Given the description of an element on the screen output the (x, y) to click on. 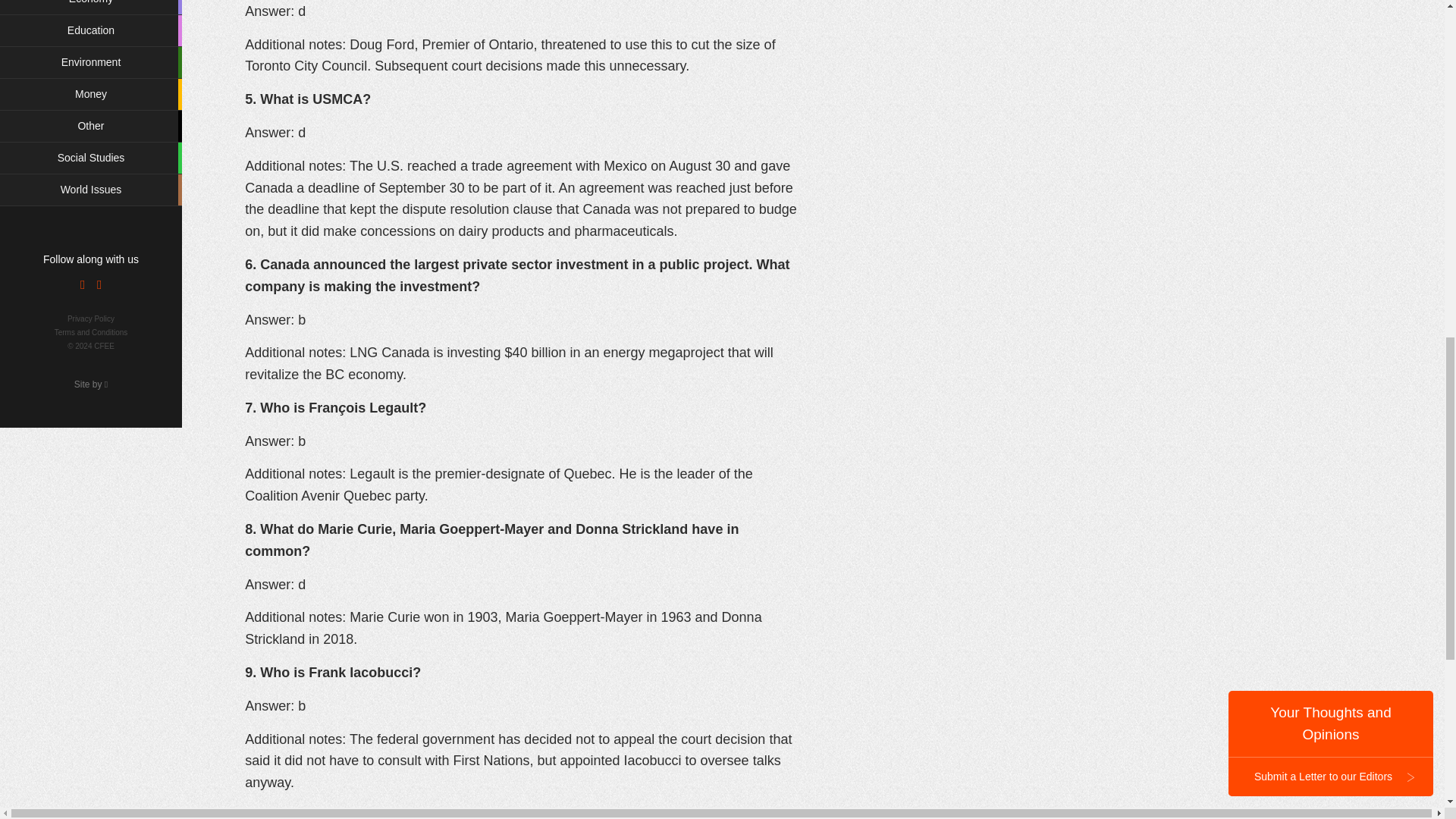
Privacy Policy (90, 318)
Education (91, 30)
Terms and Conditions (91, 332)
World Issues (91, 189)
Economy (91, 7)
Money (91, 93)
Site by (90, 384)
Other (91, 125)
Social Studies (91, 157)
Environment (91, 61)
